Given the description of an element on the screen output the (x, y) to click on. 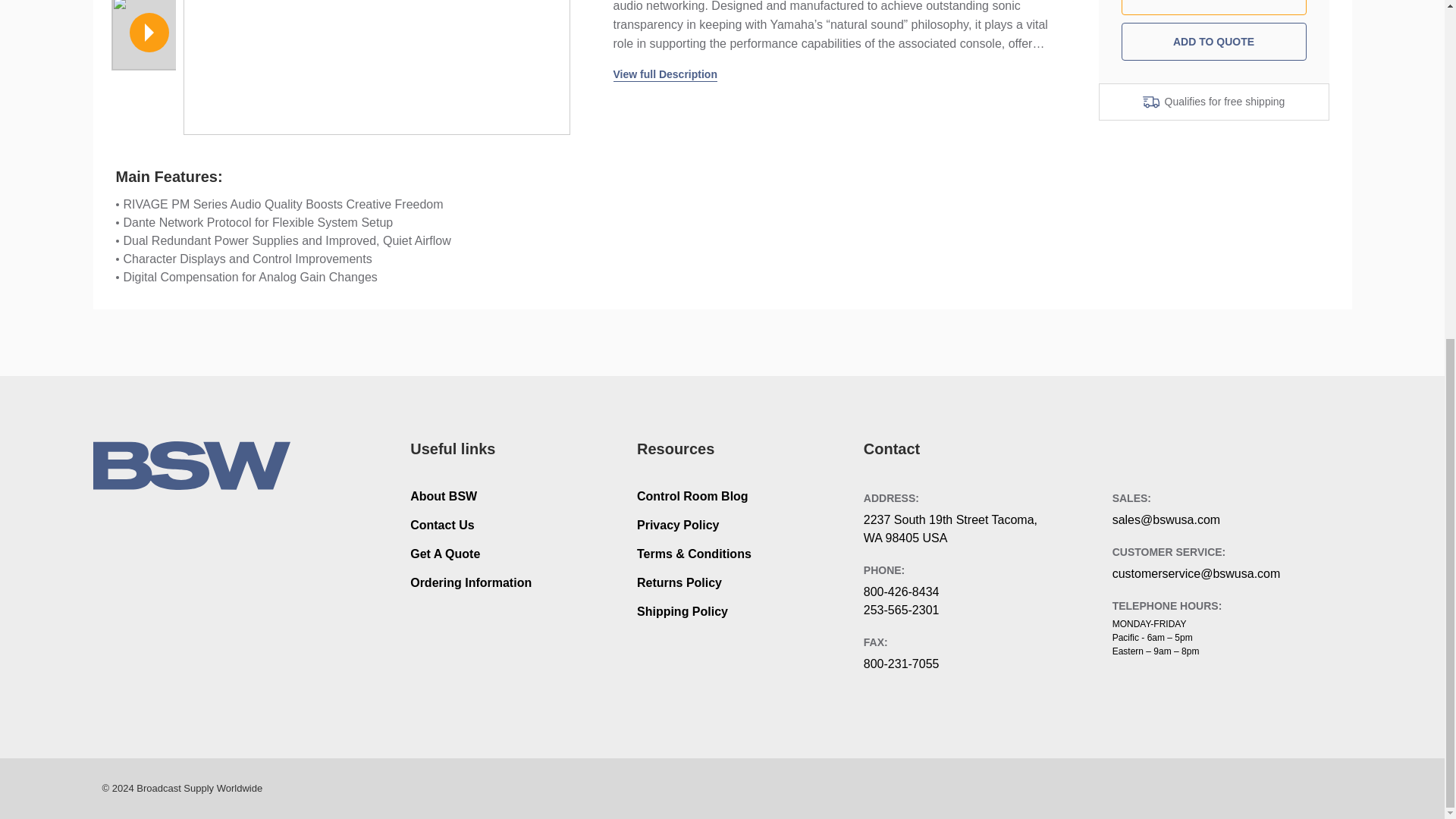
Buy Now (1213, 7)
Buy Now (1213, 7)
Broadcast Supply Worldwide (191, 465)
Ordering Information (470, 582)
Contact Us (442, 524)
Get A Quote (445, 553)
About BSW (443, 495)
